Given the description of an element on the screen output the (x, y) to click on. 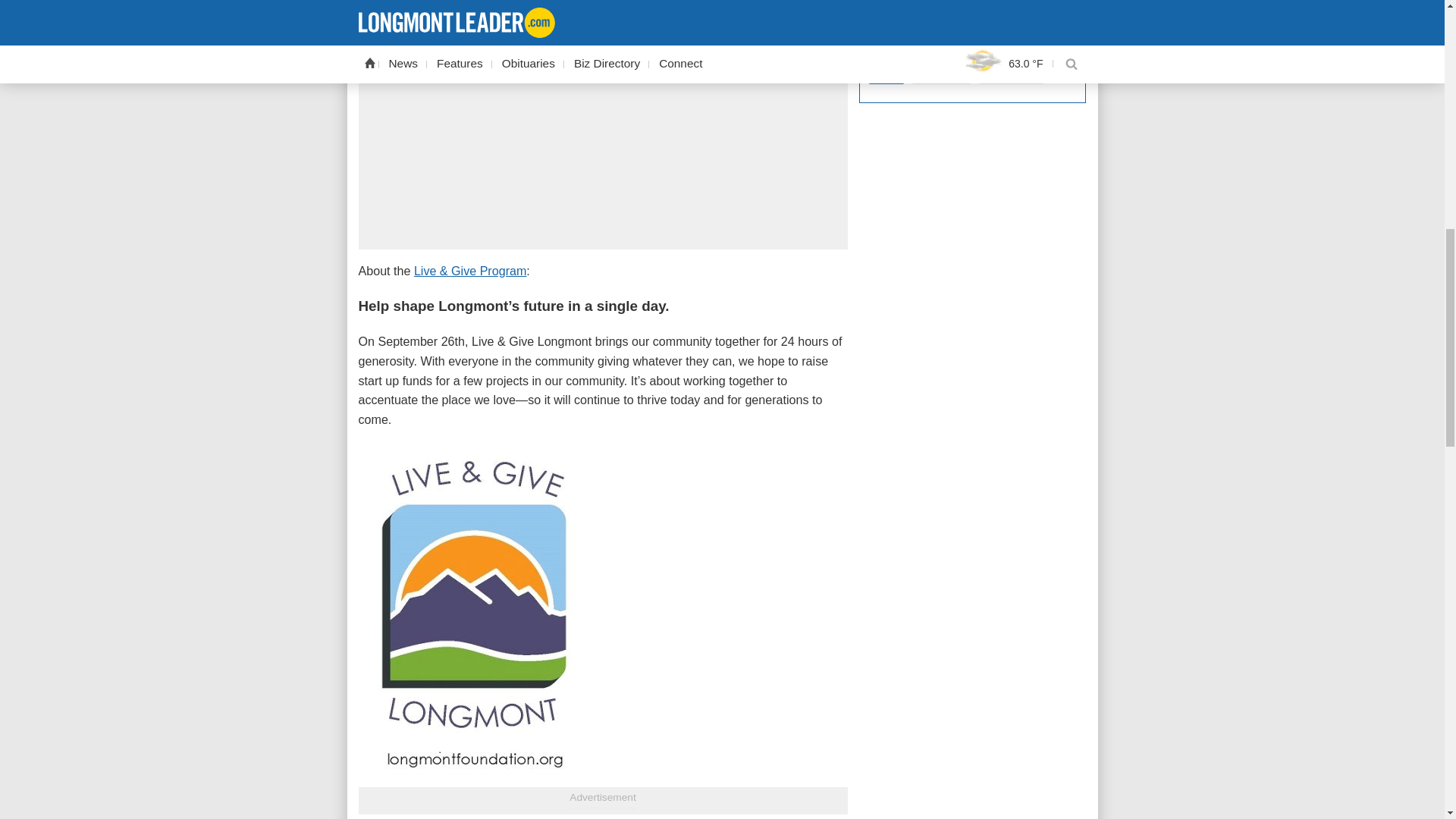
119153 (872, 38)
3rd party ad content (972, 163)
3rd party ad content (972, 474)
3rd party ad content (972, 645)
119152 (872, 17)
3rd party ad content (972, 787)
3rd party ad content (602, 149)
3rd party ad content (972, 319)
